Given the description of an element on the screen output the (x, y) to click on. 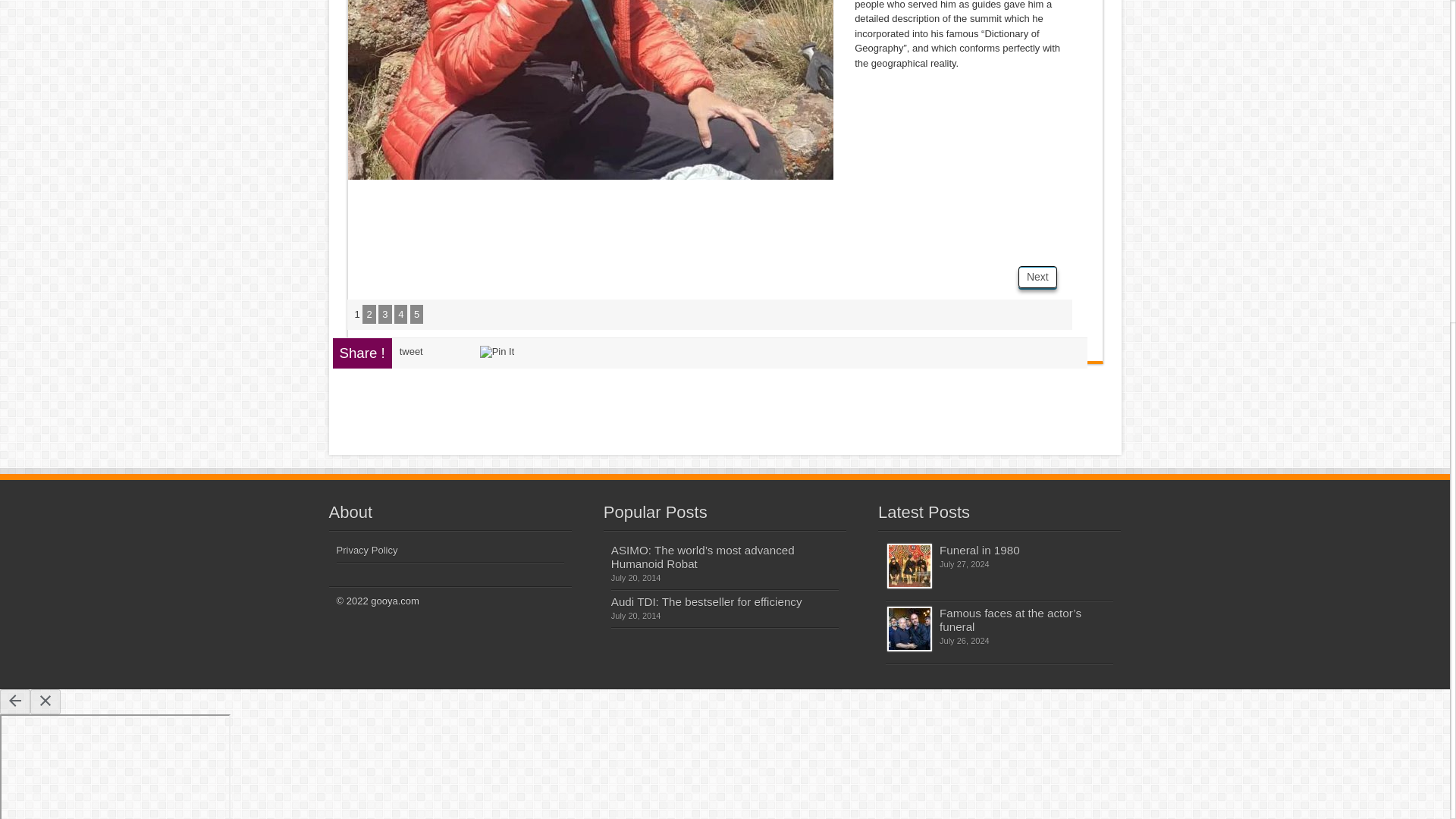
Advertisement (623, 228)
Audi TDI: The bestseller for efficiency (706, 600)
Permalink to Funeral in 1980 (909, 565)
Audi TDI: The bestseller for efficiency (706, 600)
Privacy Policy (366, 550)
Funeral in 1980 (979, 549)
Pin It (497, 351)
tweet (410, 351)
Next (1037, 277)
